Given the description of an element on the screen output the (x, y) to click on. 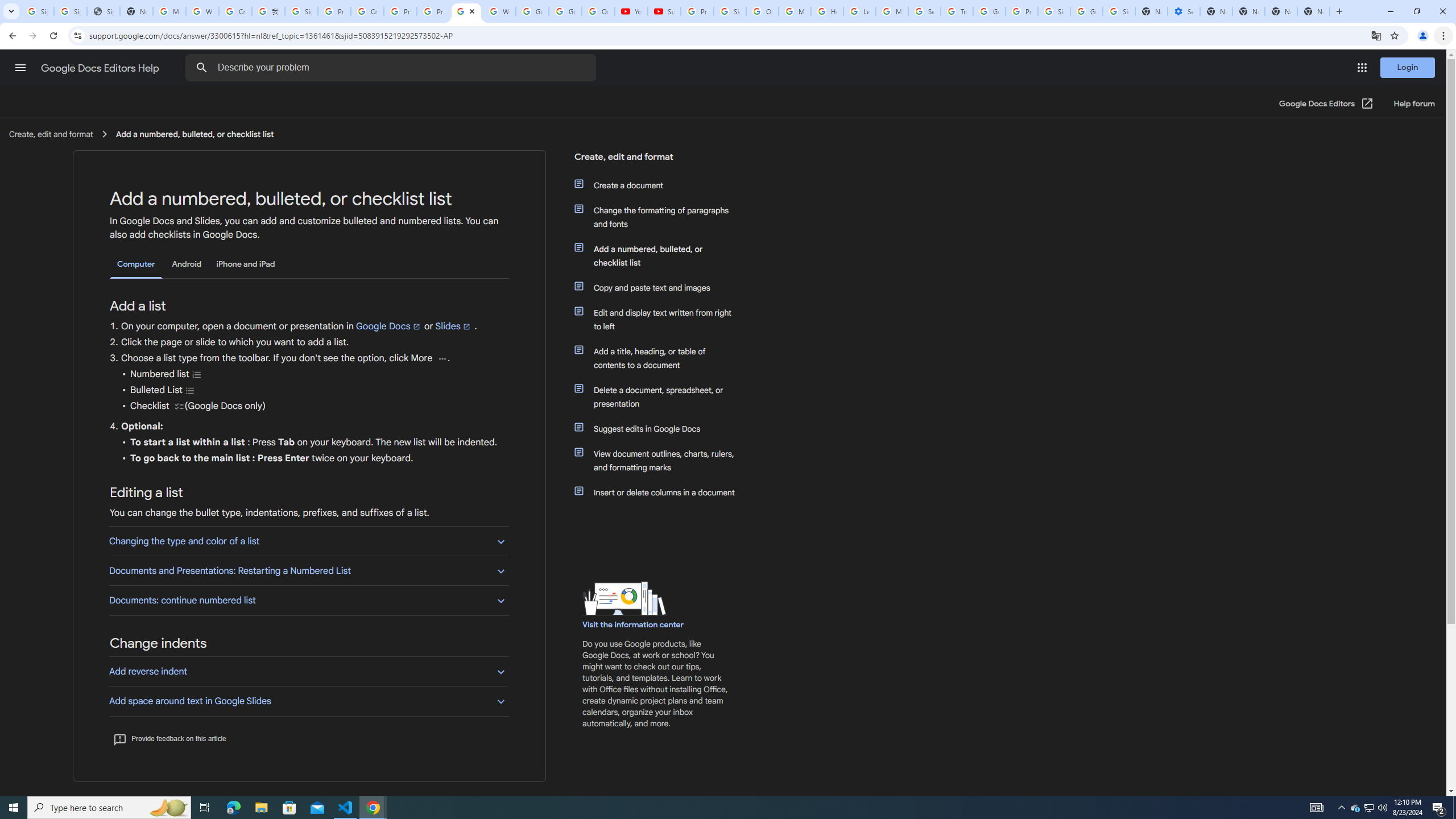
Subscriptions - YouTube (663, 11)
Google Docs Editors Help (100, 68)
Changing the type and color of a list (308, 540)
Visit the information center (633, 624)
Change the formatting of paragraphs and fonts (661, 217)
Edit and display text written from right to left (661, 319)
Translate this page (1376, 35)
Sign in - Google Accounts (70, 11)
View document outlines, charts, rulers, and formatting marks (661, 460)
